Given the description of an element on the screen output the (x, y) to click on. 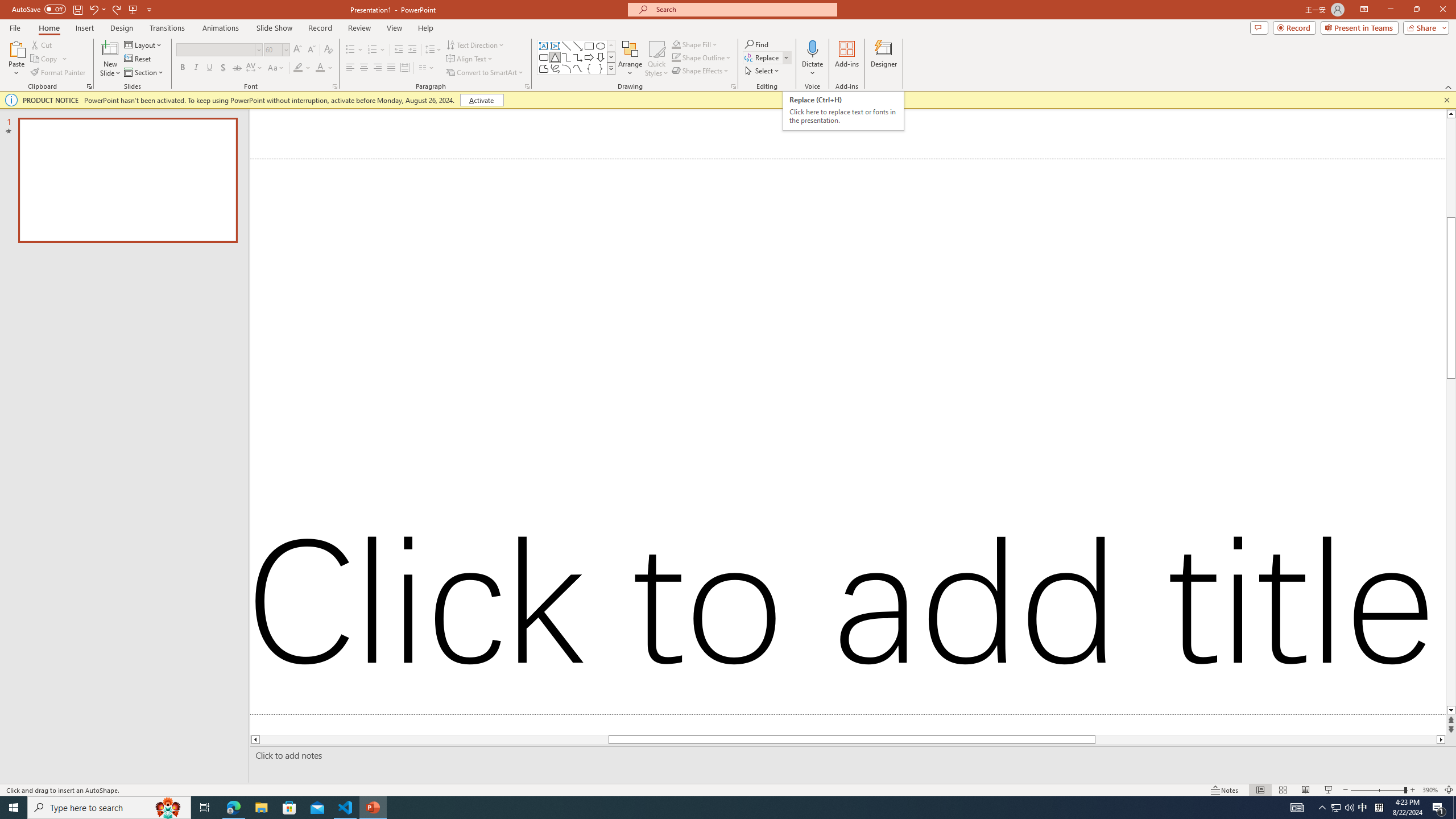
Zoom 390% (1430, 790)
